Given the description of an element on the screen output the (x, y) to click on. 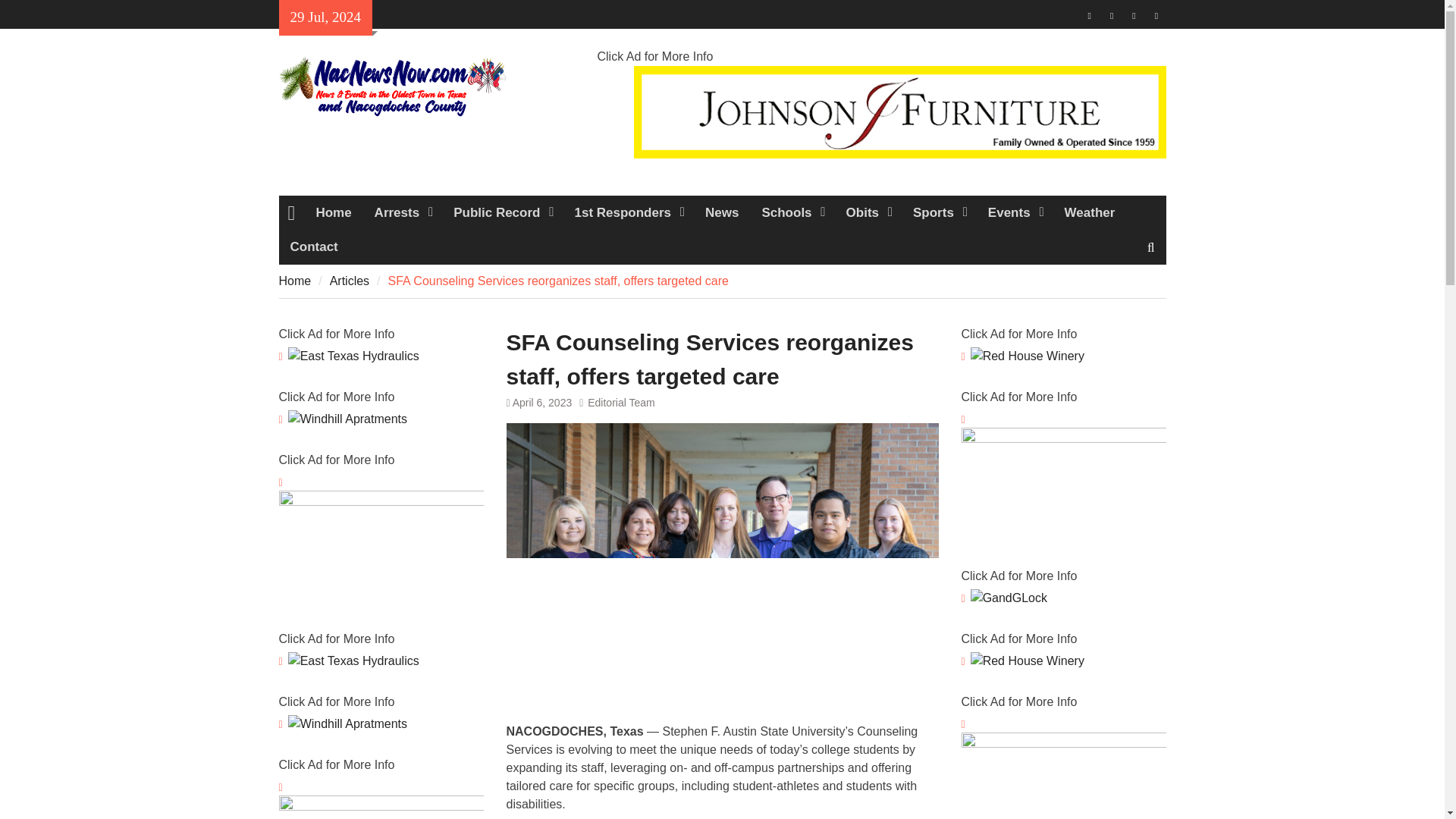
News (721, 212)
Schools (791, 212)
1st Responders (628, 212)
Public Record (502, 212)
Home (333, 212)
Arrests (402, 212)
